Given the description of an element on the screen output the (x, y) to click on. 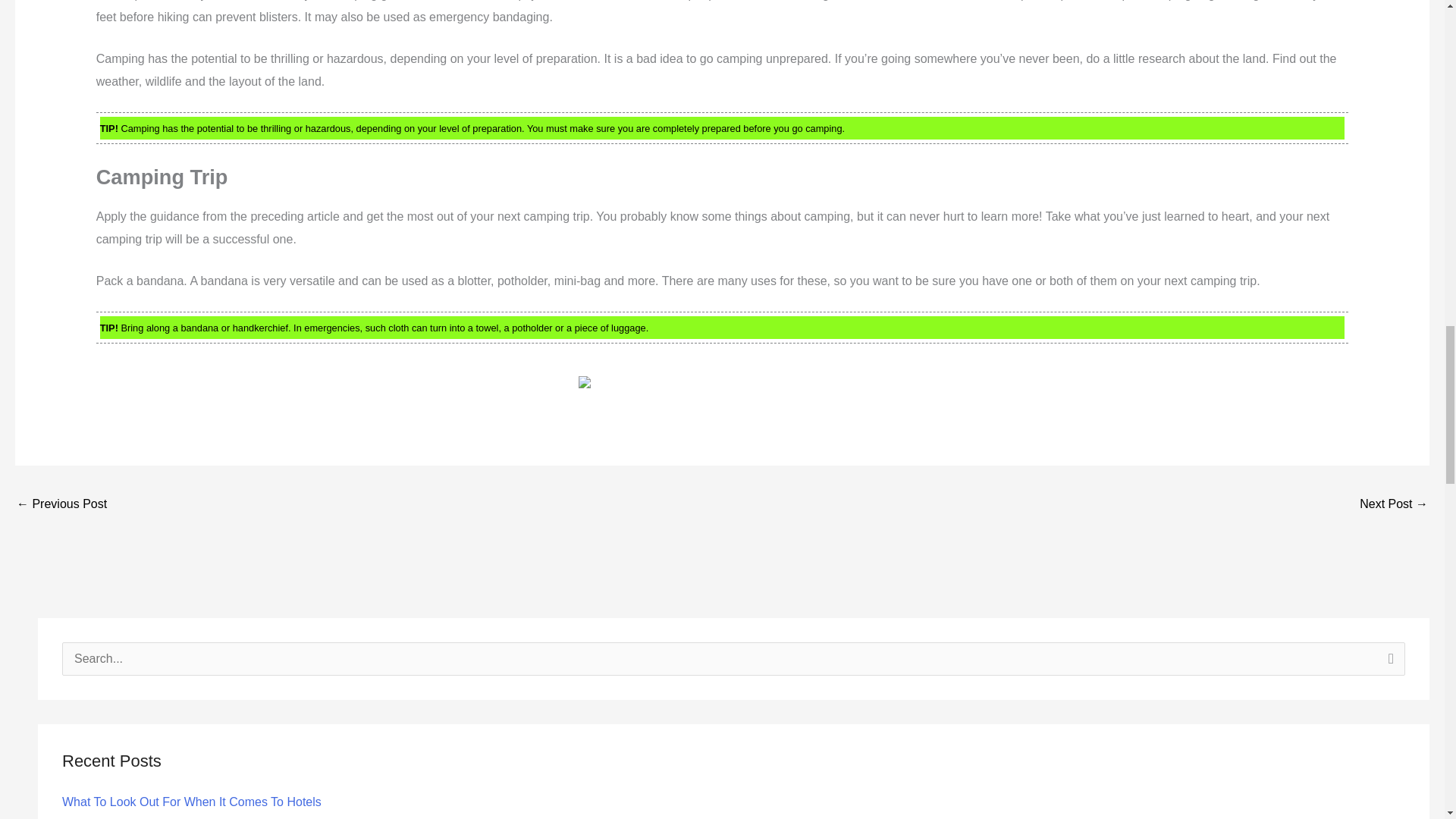
Ideas For Getting The Most Out Of Your Vacation Budget (61, 505)
What To Look Out For When It Comes To Hotels (191, 801)
Must Know Camping Tips Anyone Can Use (1393, 505)
